Given the description of an element on the screen output the (x, y) to click on. 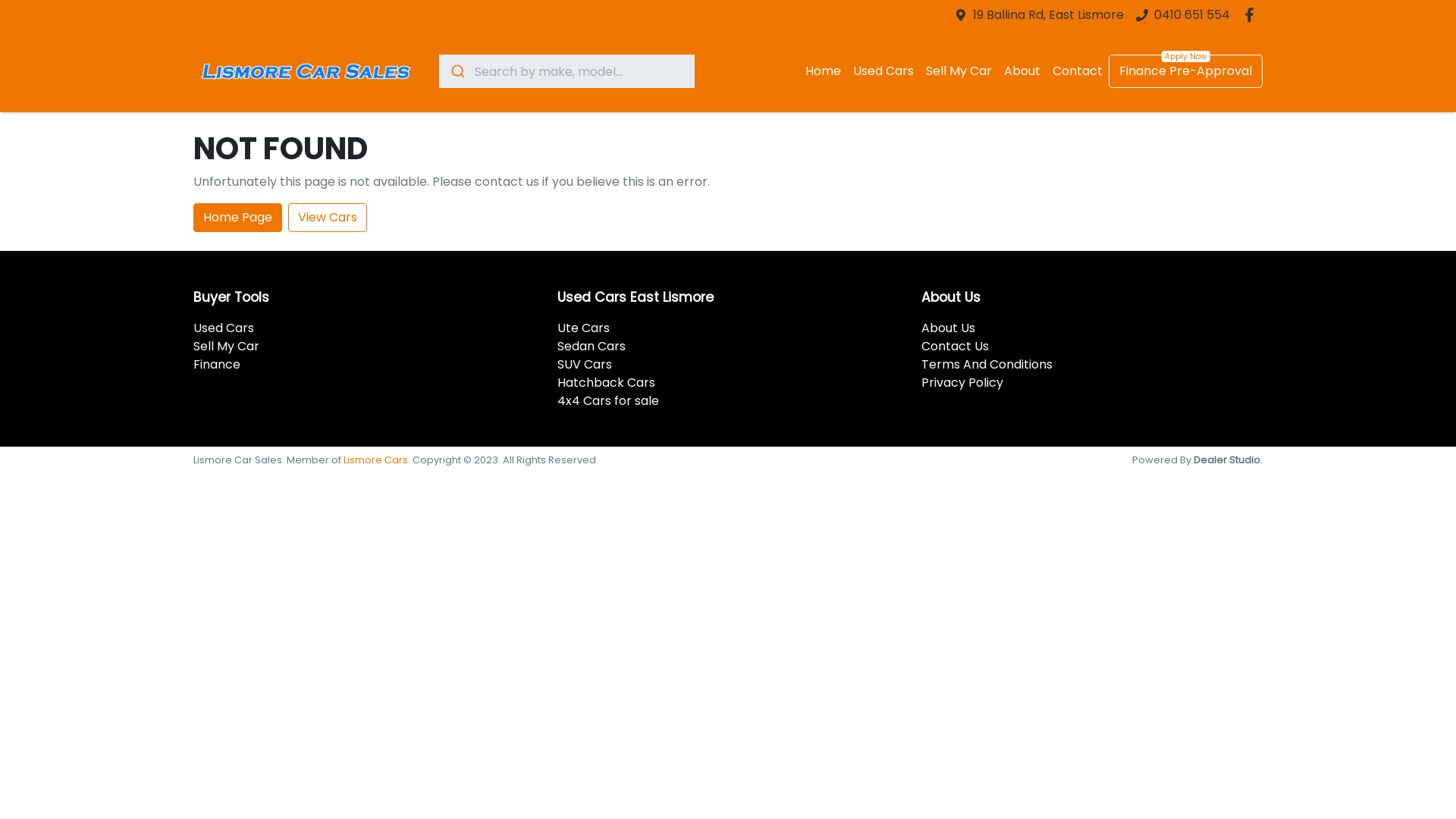
Lismore Cars Element type: text (375, 459)
About Us Element type: text (948, 327)
Home Element type: text (823, 71)
Sedan Cars Element type: text (591, 345)
View Cars Element type: text (327, 217)
Used Cars Element type: text (883, 71)
Submit Element type: hover (456, 70)
19 Ballina Rd, East Lismore Element type: text (1047, 14)
Contact Us Element type: text (954, 345)
Finance Element type: text (216, 364)
About Element type: text (1021, 71)
Home Page Element type: text (237, 217)
Used Cars Element type: text (223, 327)
Dealer Studio. Element type: text (1227, 459)
SUV Cars Element type: text (584, 364)
Ute Cars Element type: text (583, 327)
Sell My Car Element type: text (226, 345)
Contact Element type: text (1077, 71)
Finance Pre-Approval Element type: text (1185, 71)
Sell My Car Element type: text (958, 71)
4x4 Cars for sale Element type: text (607, 400)
Privacy Policy Element type: text (962, 382)
Terms And Conditions Element type: text (986, 364)
Hatchback Cars Element type: text (606, 382)
0410 651 554 Element type: text (1192, 14)
